Given the description of an element on the screen output the (x, y) to click on. 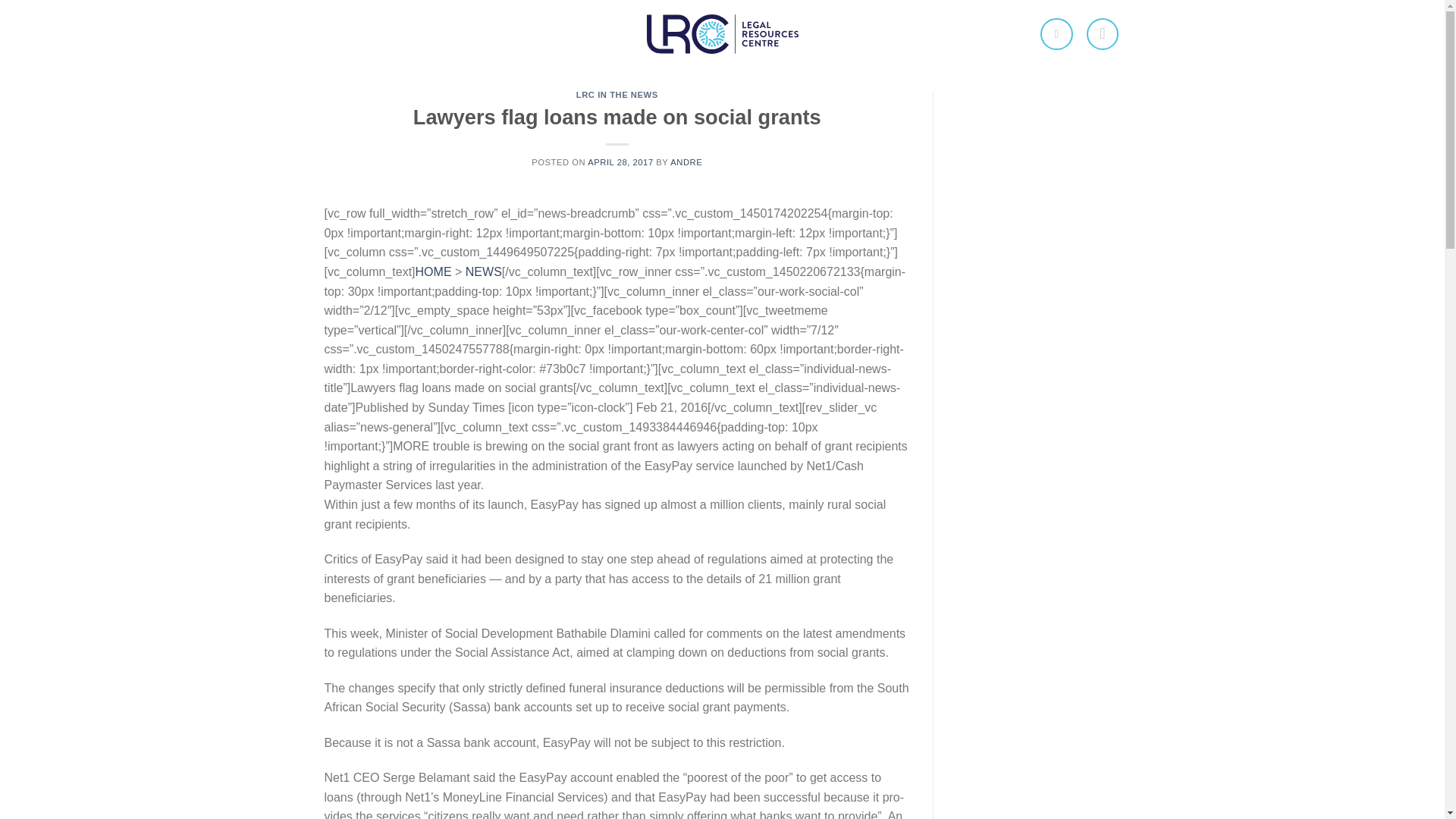
ANDRE (685, 162)
APRIL 28, 2017 (620, 162)
NEWS (483, 271)
LRC - Legal Resources Centre (721, 34)
LRC IN THE NEWS (617, 94)
HOME (432, 271)
